Given the description of an element on the screen output the (x, y) to click on. 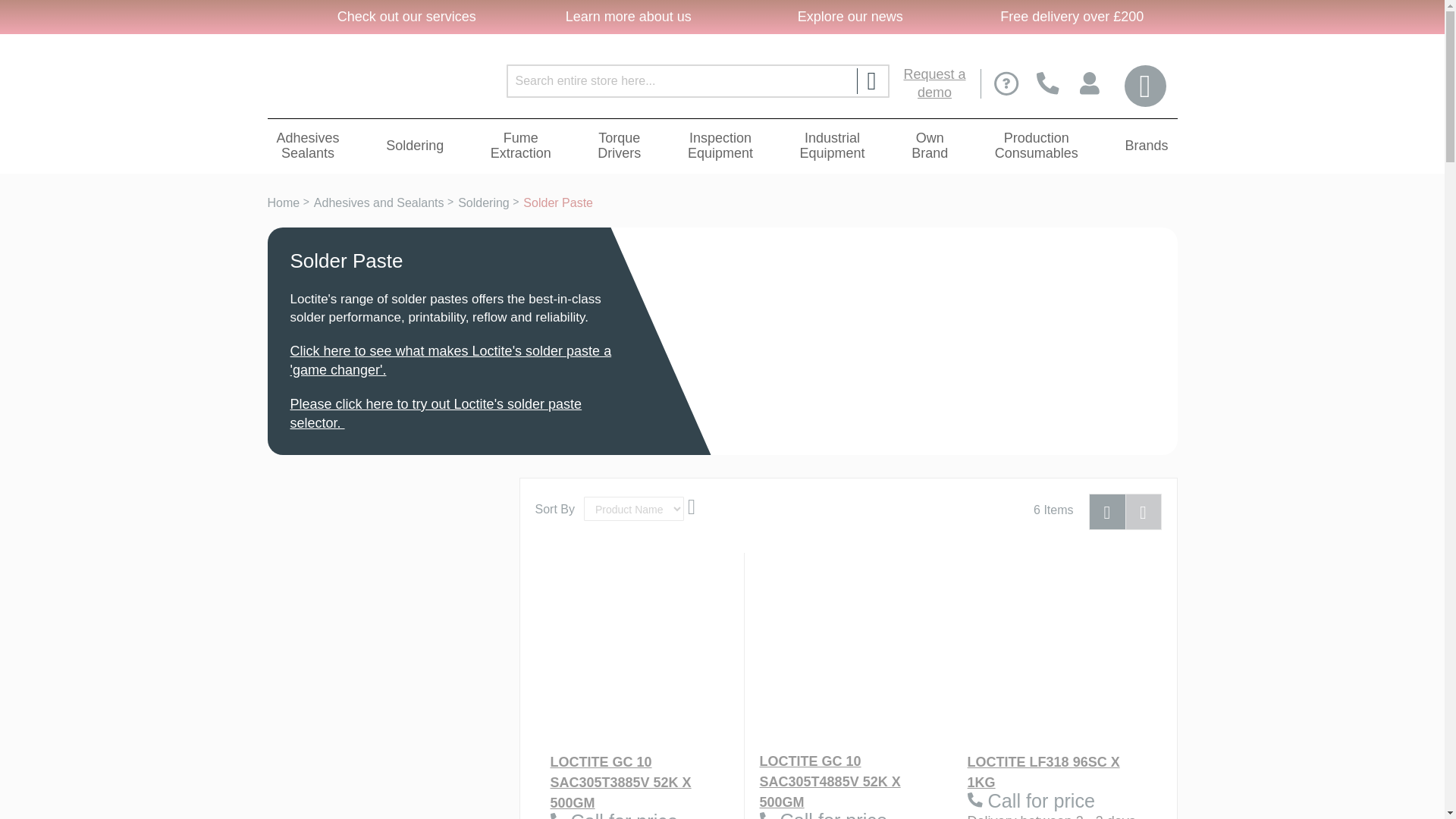
Learn more about us (626, 16)
Request a demo (935, 83)
Check out our services (404, 16)
Adhesives Sealants (307, 145)
Search (871, 80)
Search (871, 80)
Basket (1143, 86)
Explore our news (847, 16)
